Given the description of an element on the screen output the (x, y) to click on. 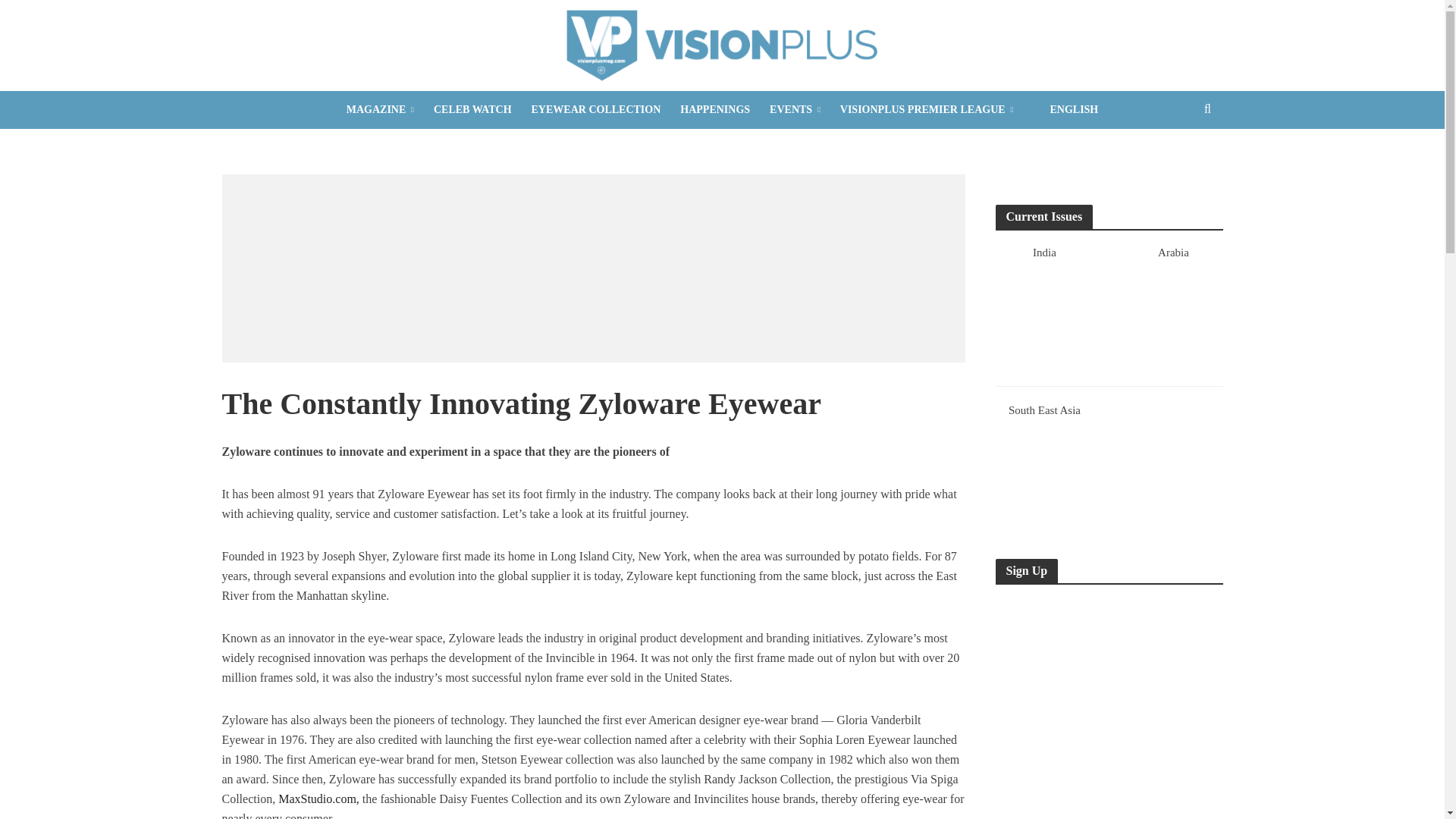
ENGLISH (1065, 109)
EVENTS (794, 109)
CELEB WATCH (472, 109)
English (1065, 109)
VISIONPLUS PREMIER LEAGUE (926, 109)
HAPPENINGS (714, 109)
EYEWEAR COLLECTION (596, 109)
MAGAZINE (379, 109)
